Given the description of an element on the screen output the (x, y) to click on. 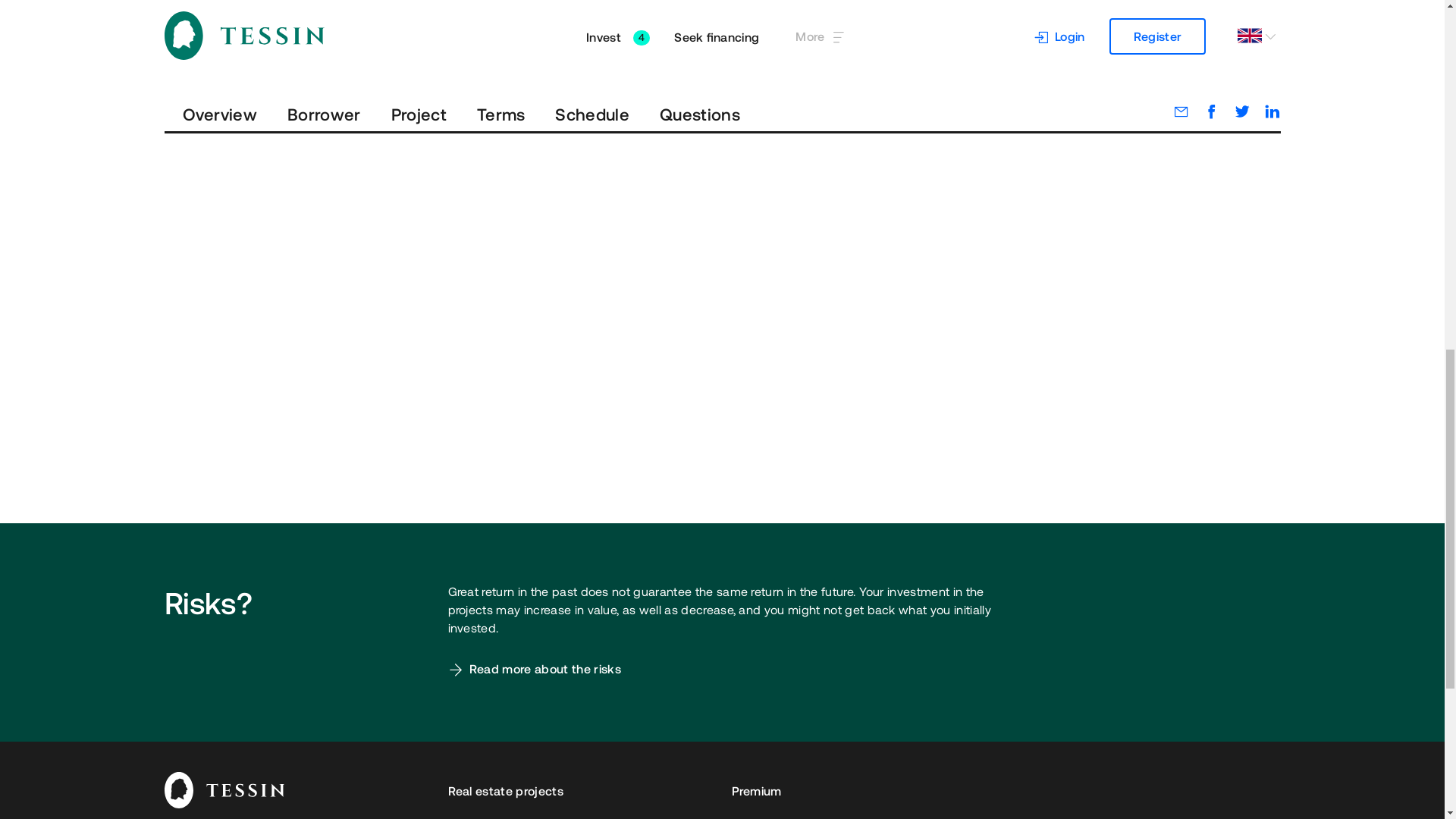
Premium (1004, 790)
Real estate projects (579, 790)
Read more about the risks (533, 668)
Contact us (1004, 813)
How does it work? (579, 813)
Register account (1099, 6)
